Given the description of an element on the screen output the (x, y) to click on. 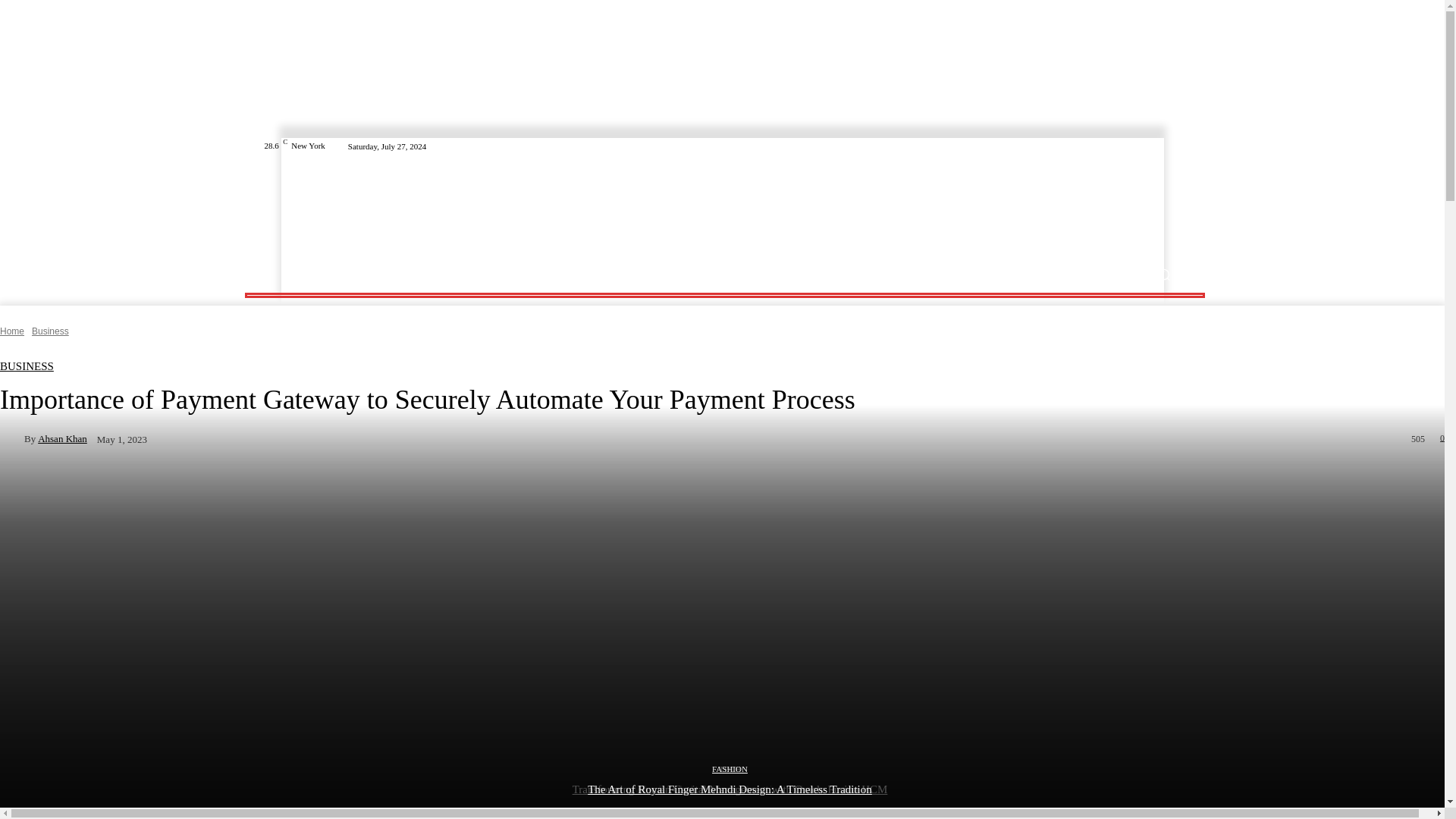
View all posts in Business (50, 330)
Ahsan Khan (12, 437)
Home (12, 330)
Crypto (446, 274)
Tech (348, 274)
Digital Marketing (613, 274)
Home (307, 274)
Contact Us (693, 274)
0 (1439, 437)
Business (50, 330)
Ahsan Khan (62, 438)
BUSINESS (26, 366)
Business (395, 274)
